Given the description of an element on the screen output the (x, y) to click on. 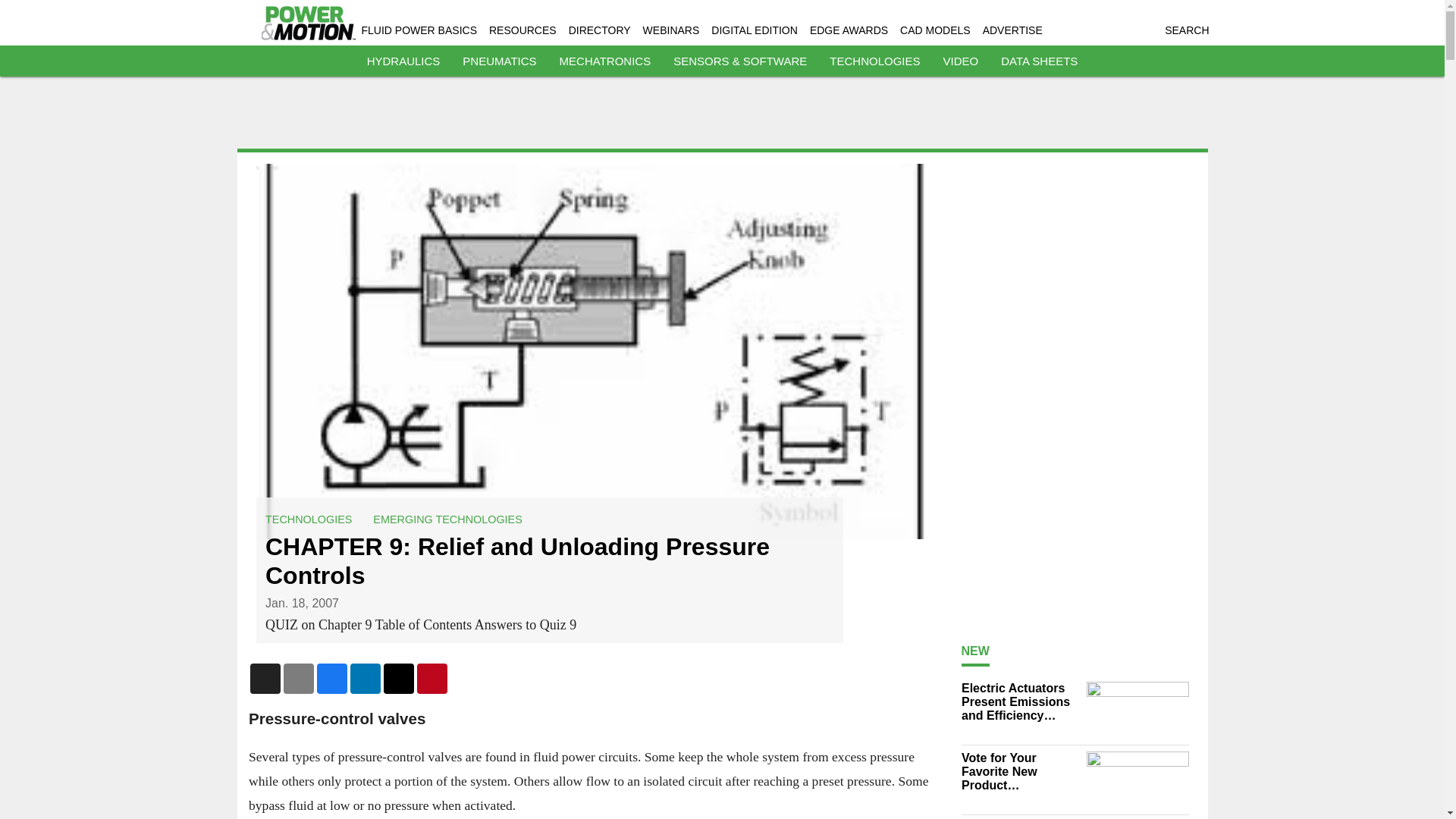
DIRECTORY (599, 30)
DIGITAL EDITION (754, 30)
ADVERTISE (1012, 30)
EDGE AWARDS (848, 30)
WEBINARS (671, 30)
CAD MODELS (935, 30)
TECHNOLOGIES (874, 60)
DATA SHEETS (1039, 60)
TECHNOLOGIES (308, 519)
RESOURCES (522, 30)
MECHATRONICS (604, 60)
EMERGING TECHNOLOGIES (446, 519)
FLUID POWER BASICS (418, 30)
PNEUMATICS (499, 60)
